Given the description of an element on the screen output the (x, y) to click on. 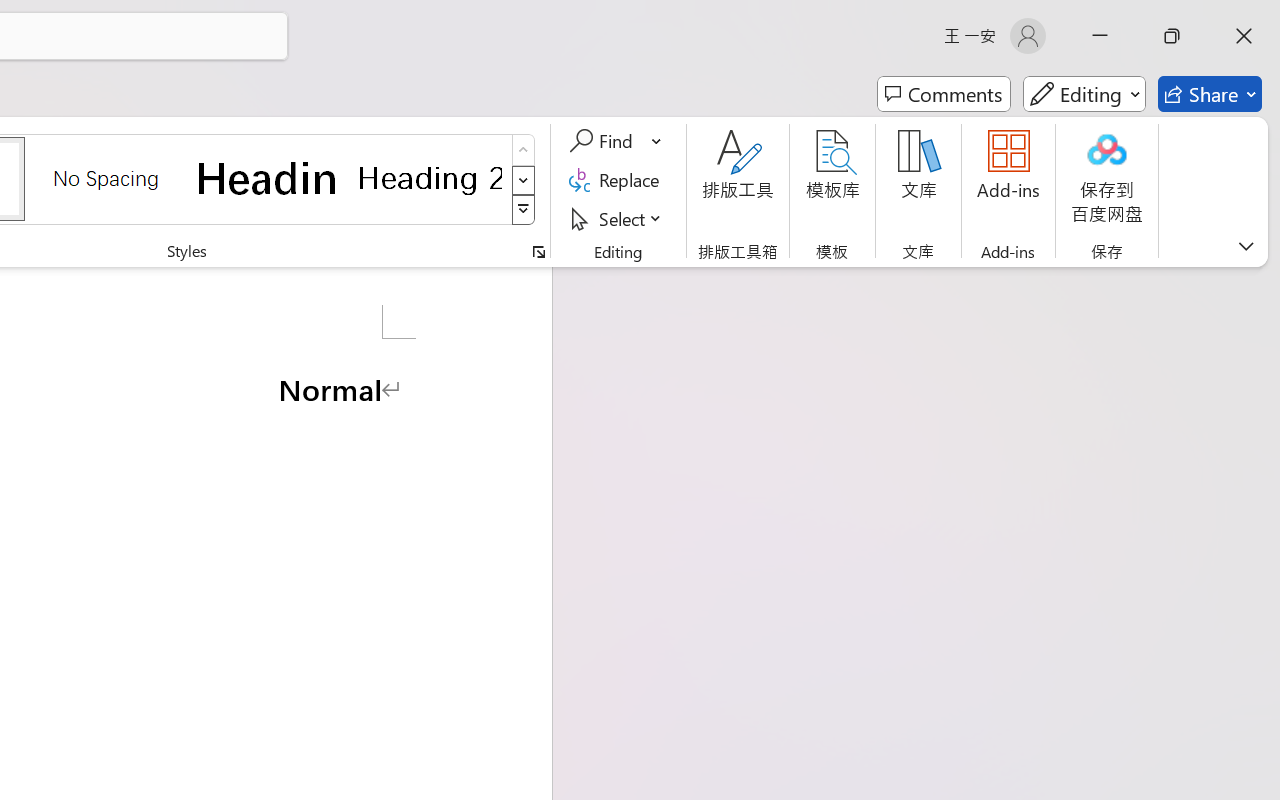
Heading 1 (267, 178)
Row up (523, 150)
Replace... (617, 179)
Select (618, 218)
Row Down (523, 180)
